Given the description of an element on the screen output the (x, y) to click on. 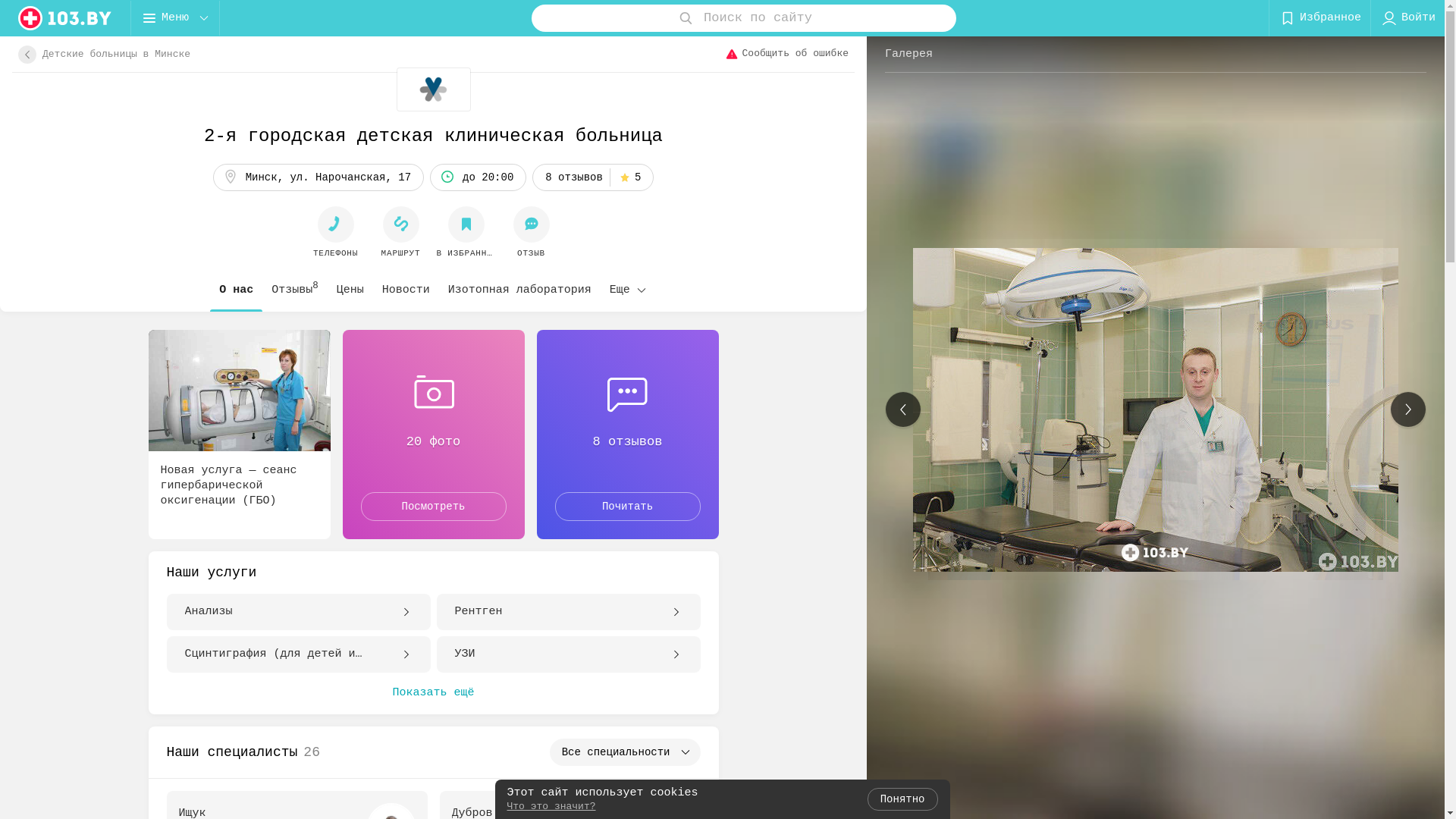
logo Element type: hover (65, 18)
